Given the description of an element on the screen output the (x, y) to click on. 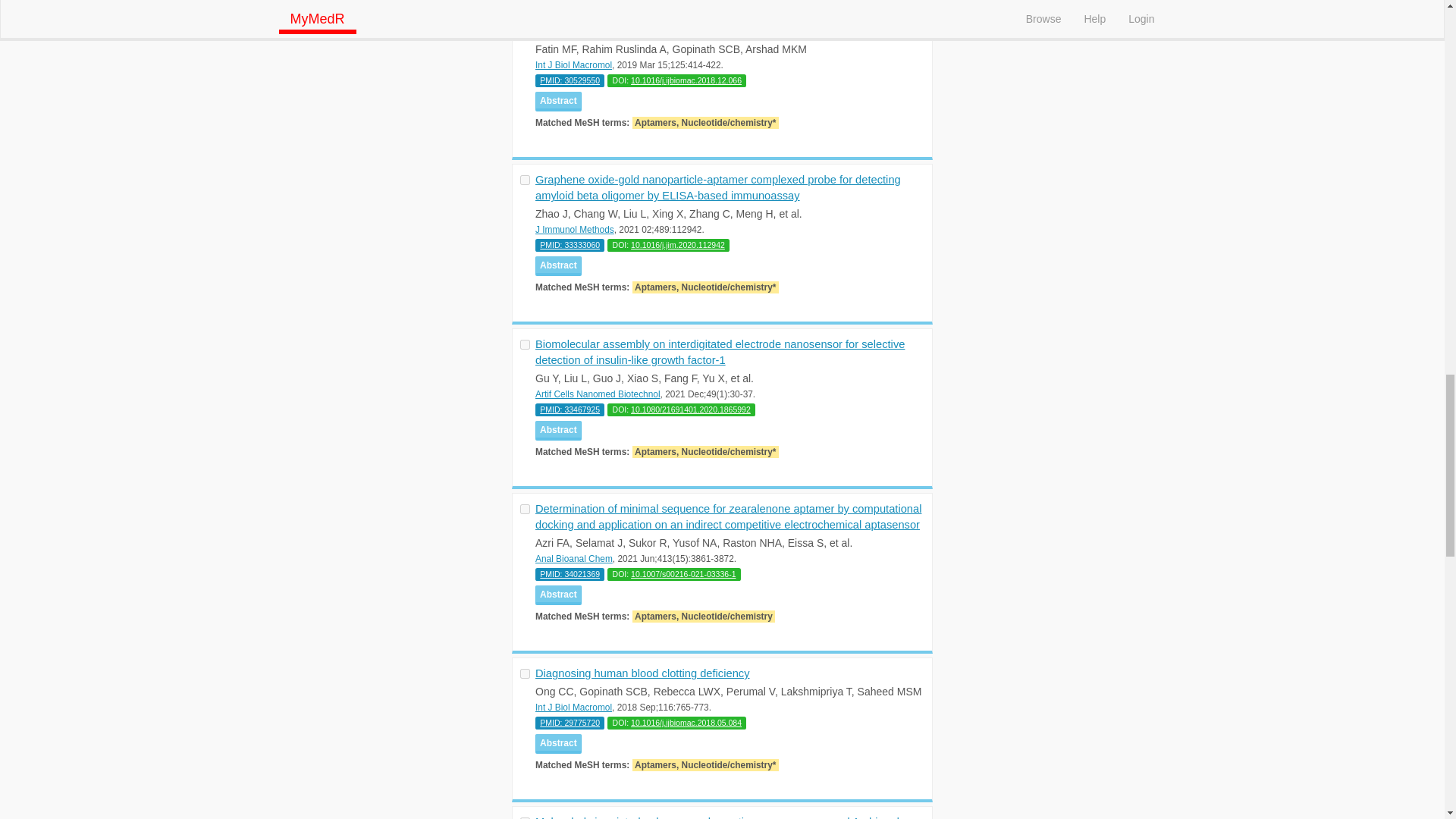
on (524, 180)
on (524, 673)
on (524, 15)
on (524, 344)
on (524, 509)
